Given the description of an element on the screen output the (x, y) to click on. 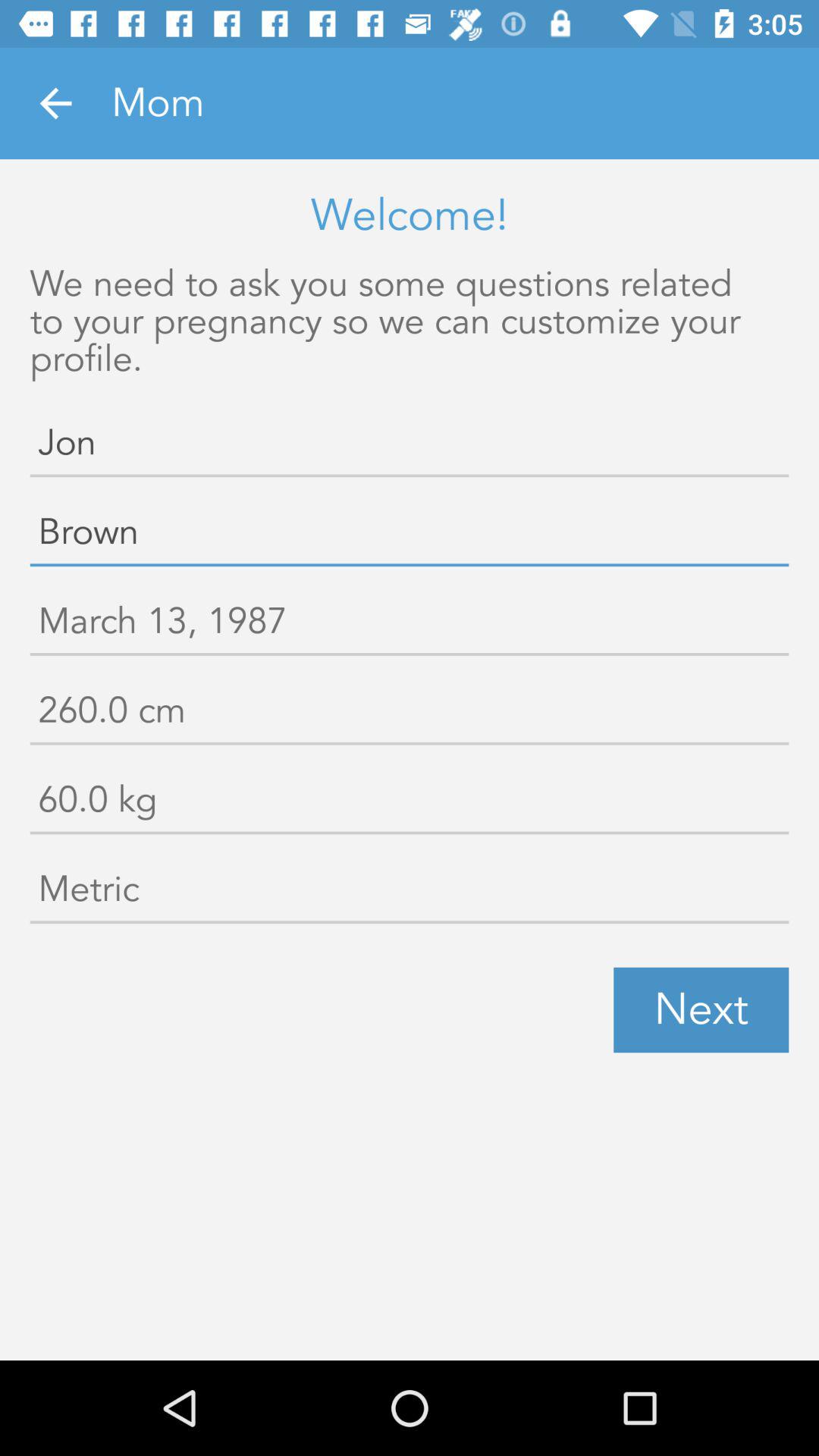
turn off icon above 260.0 cm icon (409, 624)
